Given the description of an element on the screen output the (x, y) to click on. 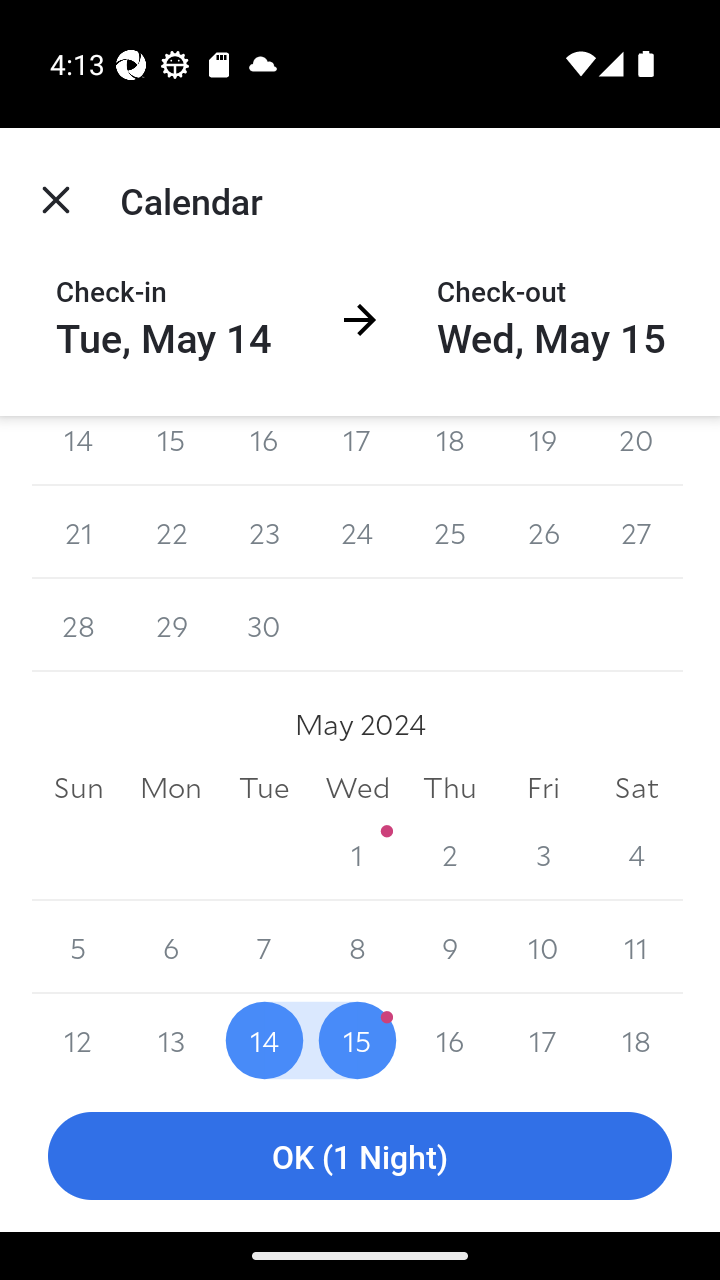
14 14 April 2024 (78, 451)
15 15 April 2024 (171, 451)
16 16 April 2024 (264, 451)
17 17 April 2024 (357, 451)
18 18 April 2024 (449, 451)
19 19 April 2024 (542, 451)
20 20 April 2024 (636, 451)
21 21 April 2024 (78, 532)
22 22 April 2024 (171, 532)
23 23 April 2024 (264, 532)
24 24 April 2024 (357, 532)
25 25 April 2024 (449, 532)
26 26 April 2024 (542, 532)
27 27 April 2024 (636, 532)
28 28 April 2024 (78, 625)
29 29 April 2024 (171, 625)
30 30 April 2024 (264, 625)
Sun (78, 786)
Mon (171, 786)
Tue (264, 786)
Wed (357, 786)
Thu (449, 786)
Fri (542, 786)
Sat (636, 786)
1 1 May 2024 (357, 854)
2 2 May 2024 (449, 854)
3 3 May 2024 (542, 854)
4 4 May 2024 (636, 854)
5 5 May 2024 (78, 947)
6 6 May 2024 (171, 947)
7 7 May 2024 (264, 947)
8 8 May 2024 (357, 947)
9 9 May 2024 (449, 947)
10 10 May 2024 (542, 947)
11 11 May 2024 (636, 947)
12 12 May 2024 (78, 1037)
13 13 May 2024 (171, 1037)
14 14 May 2024 (264, 1037)
15 15 May 2024 (357, 1037)
16 16 May 2024 (449, 1037)
17 17 May 2024 (542, 1037)
18 18 May 2024 (636, 1037)
OK (1 Night) (359, 1156)
